Given the description of an element on the screen output the (x, y) to click on. 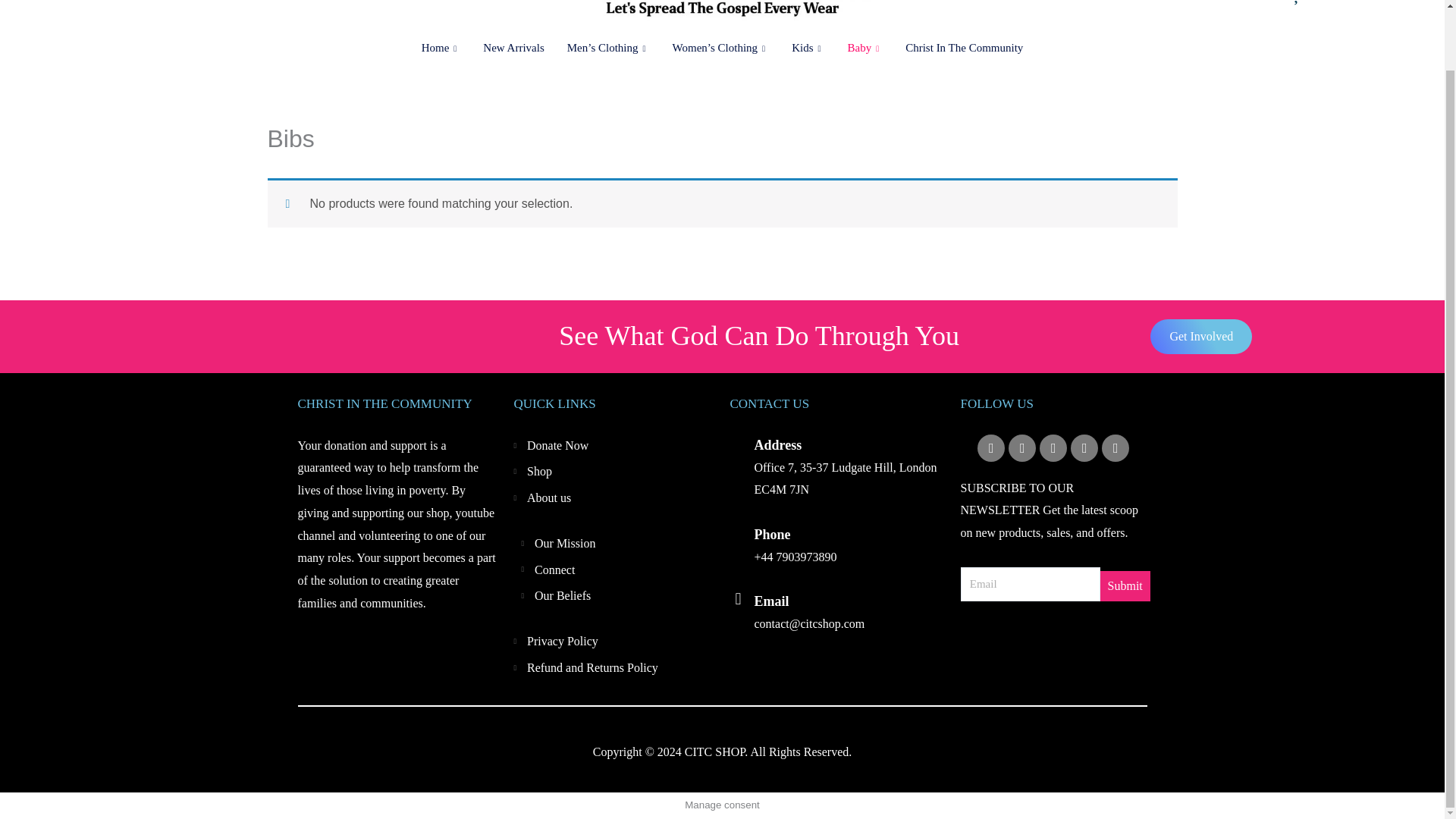
Home (440, 48)
Christ In The Community (963, 48)
New Arrivals (512, 48)
0 (1245, 2)
Baby (864, 48)
Kids (807, 48)
View your shopping cart (1245, 2)
